Given the description of an element on the screen output the (x, y) to click on. 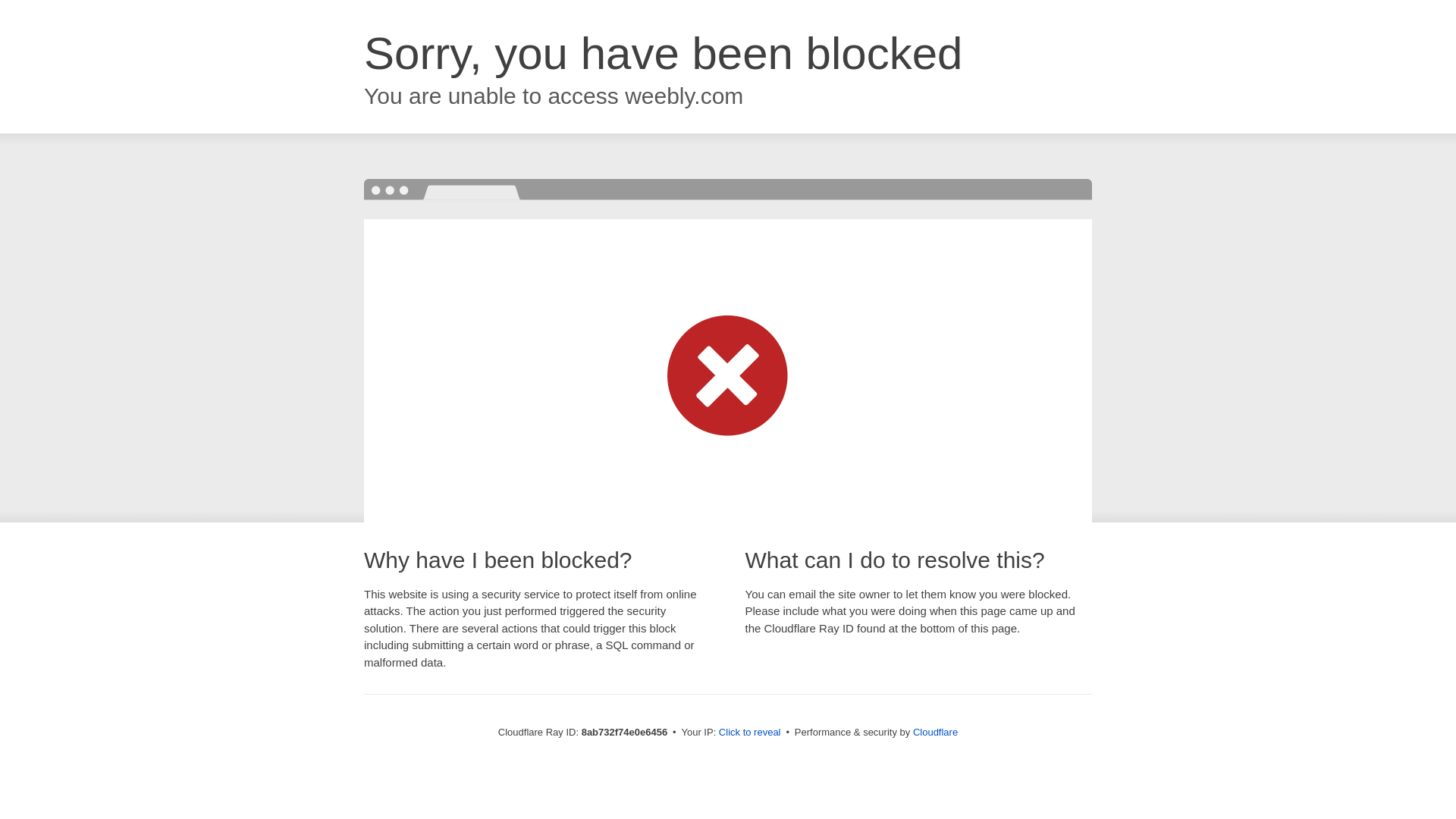
Click to reveal (749, 732)
Cloudflare (935, 731)
